Given the description of an element on the screen output the (x, y) to click on. 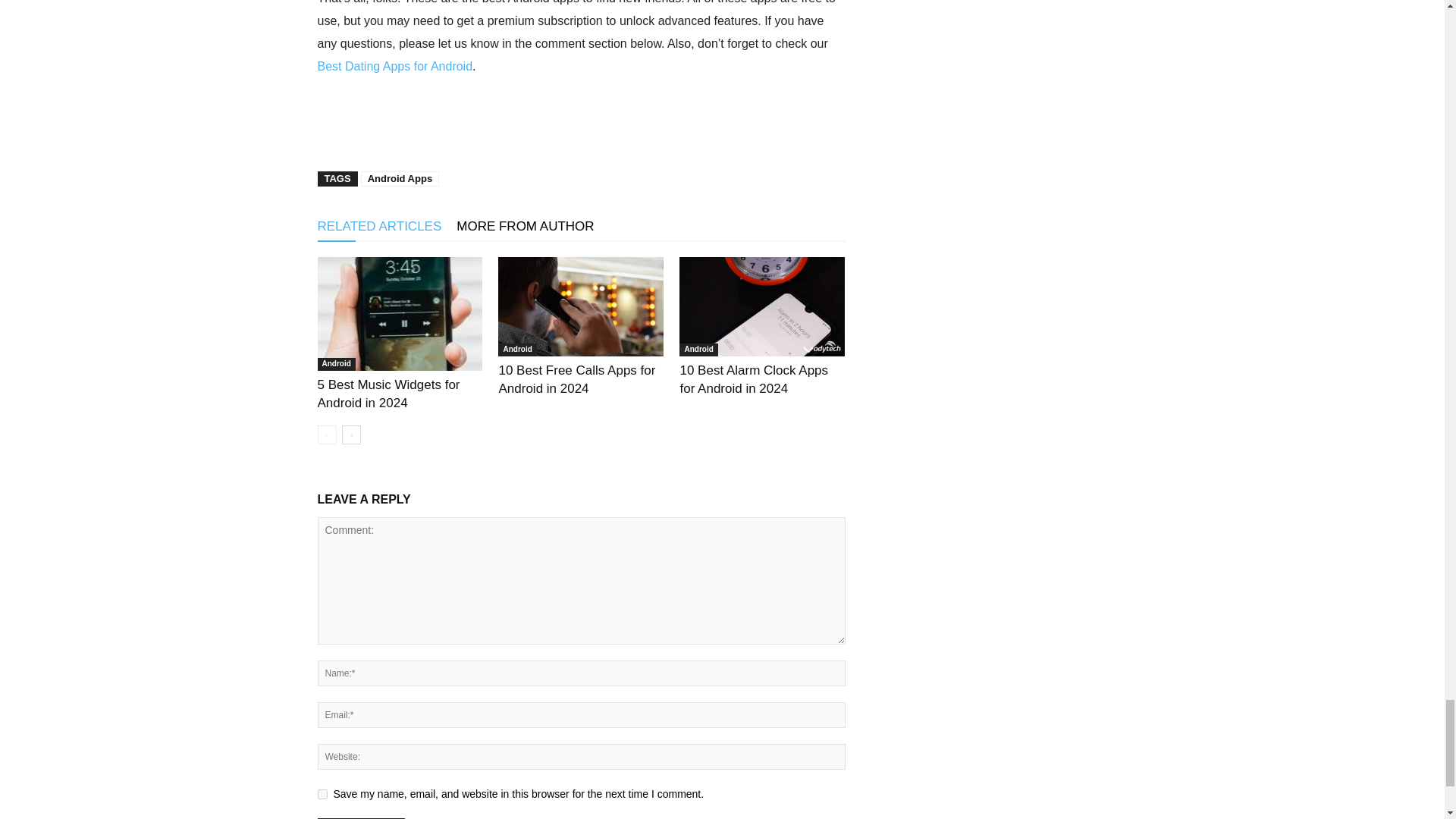
yes (321, 794)
